Given the description of an element on the screen output the (x, y) to click on. 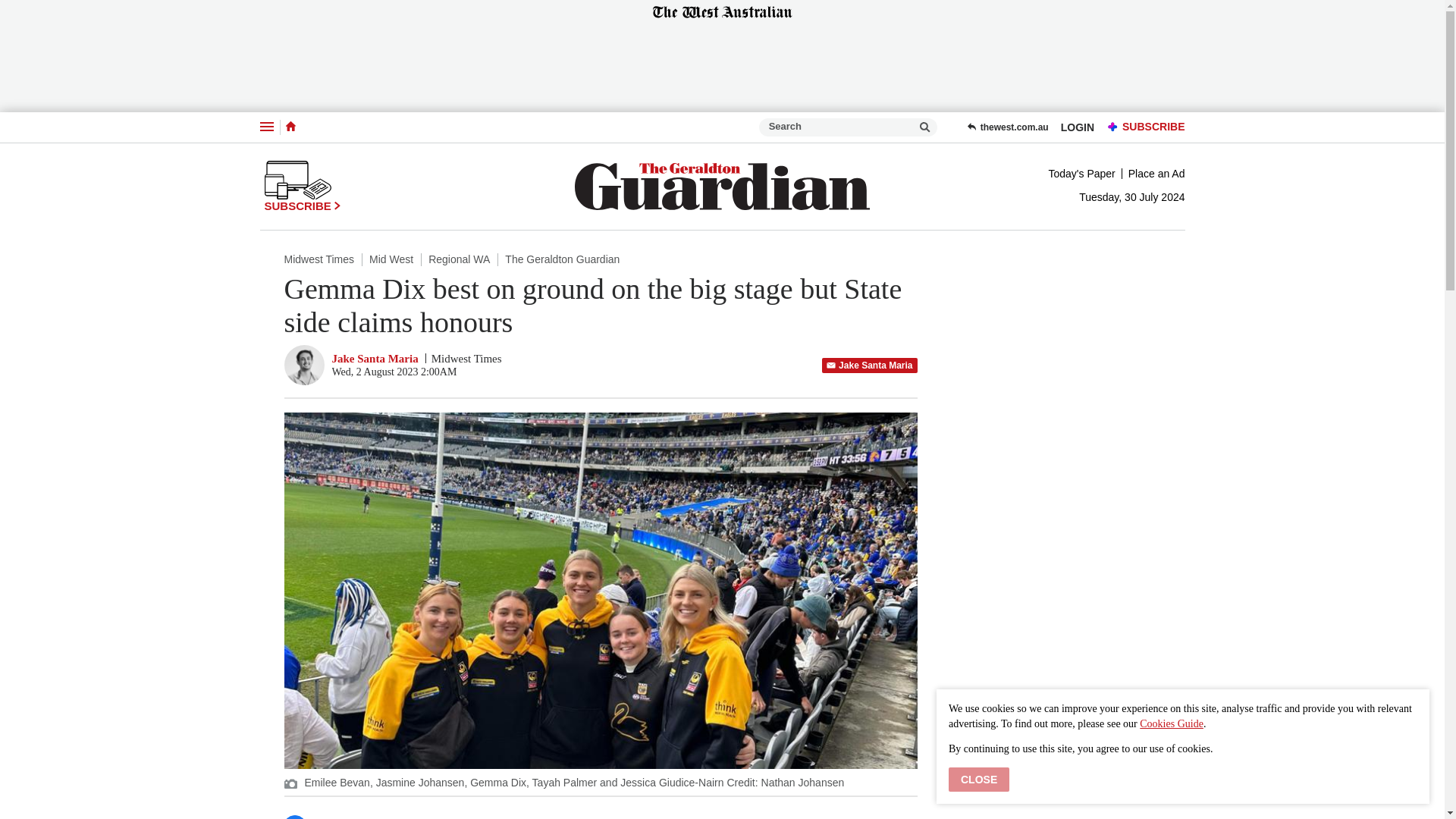
Home (290, 126)
PREMIUMSUBSCRIBE (1142, 127)
thewest.com.au (1007, 127)
PREMIUM (1112, 126)
Please enter a search term. (924, 127)
Home (290, 126)
LOGIN (1077, 127)
SUBSCRIBE CHEVRON RIGHT ICON (302, 185)
